Given the description of an element on the screen output the (x, y) to click on. 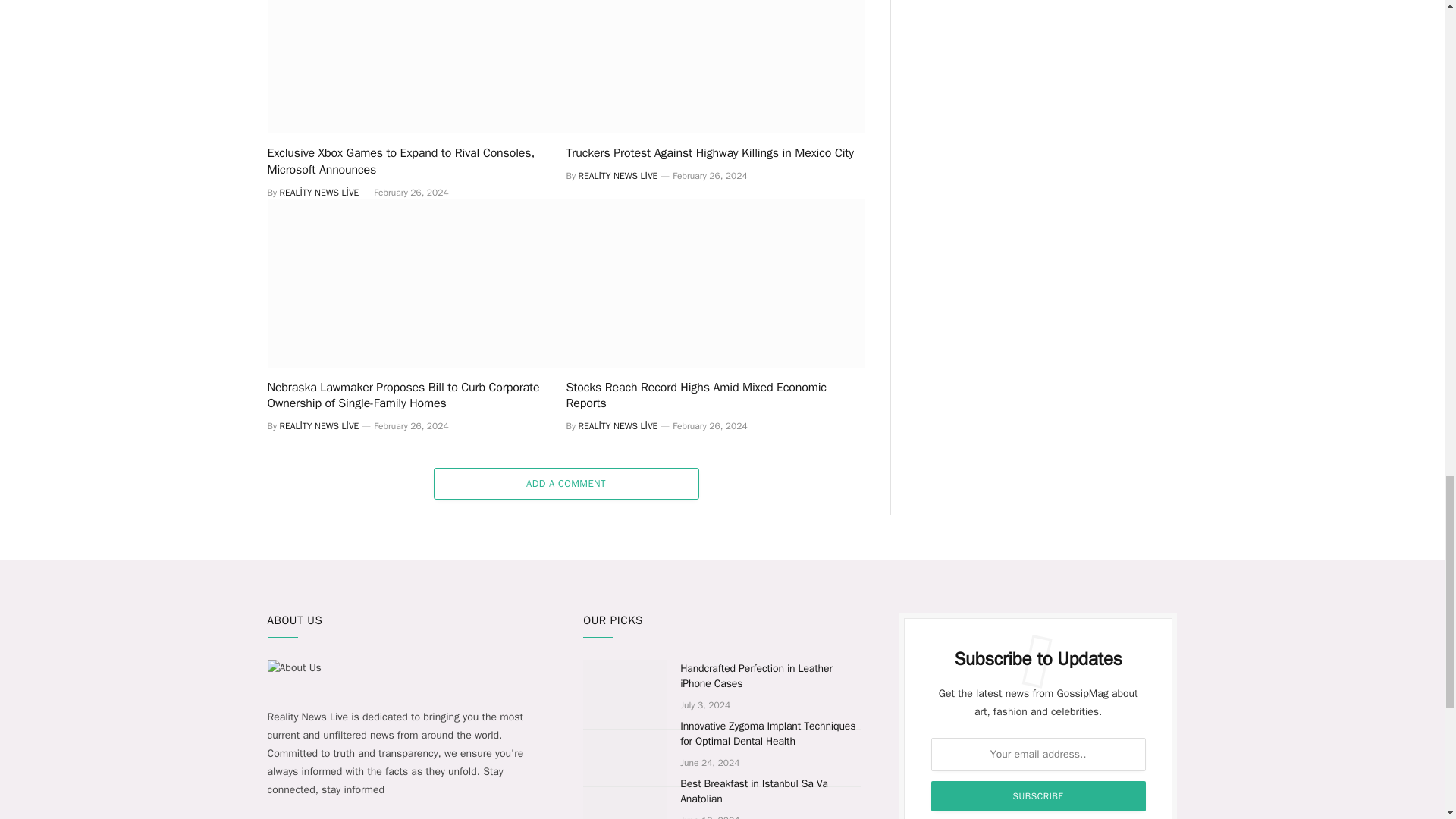
Subscribe (1038, 796)
